Given the description of an element on the screen output the (x, y) to click on. 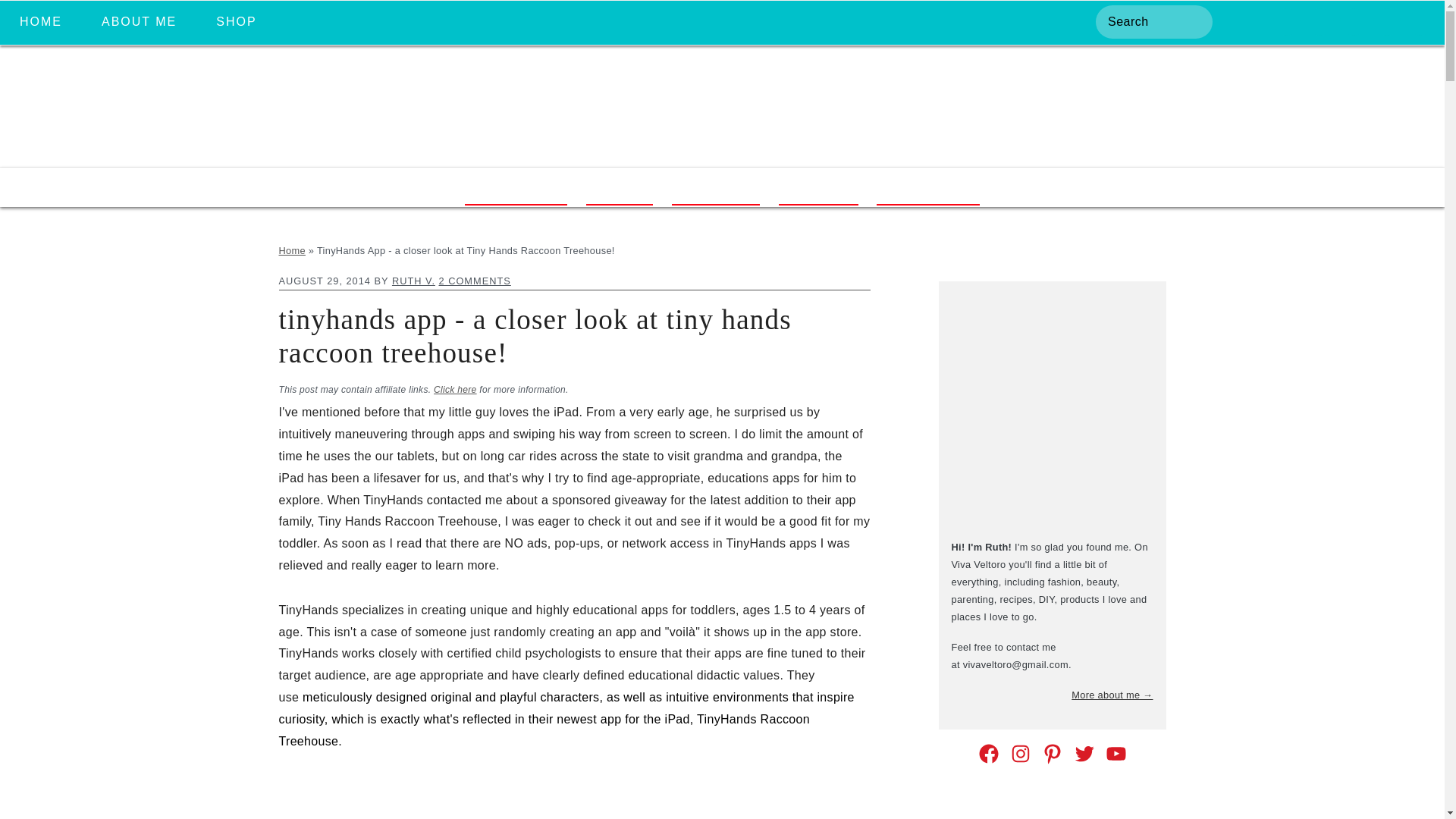
SHOP (235, 21)
TRAVEL (818, 186)
ABOUT ME (138, 21)
RECIPES (715, 186)
TIEKS (619, 186)
LIFESTYLE (515, 186)
Viva Veltoro (721, 149)
HOME (40, 21)
WELLNESS (927, 186)
